Given the description of an element on the screen output the (x, y) to click on. 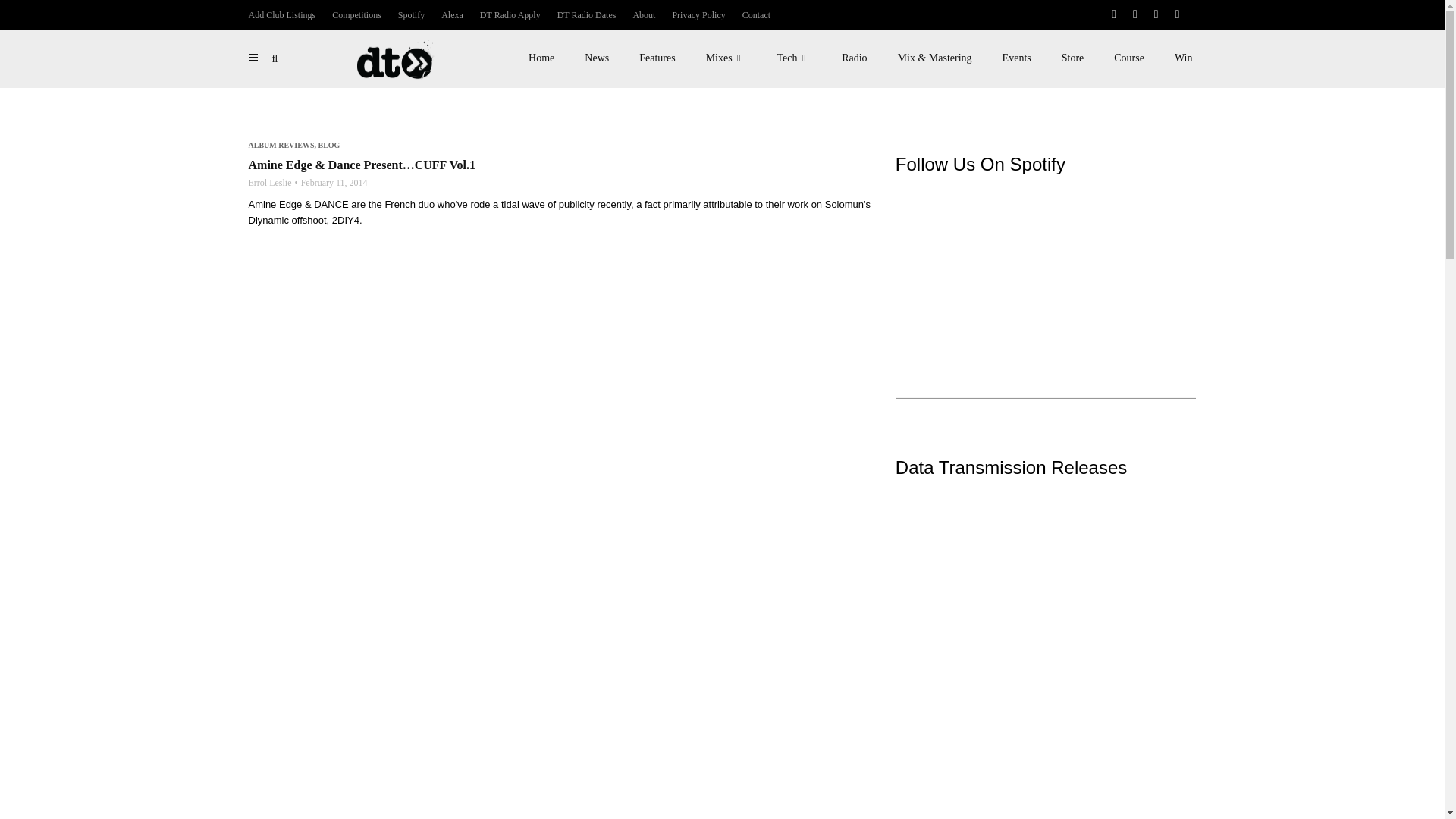
News (596, 57)
Store (1072, 57)
Features (657, 57)
Home (541, 57)
Tech (794, 57)
Events (1016, 57)
Course (1128, 57)
Spotify Embed: New Music Friday (1045, 260)
Mixes (725, 57)
Radio (854, 57)
